Given the description of an element on the screen output the (x, y) to click on. 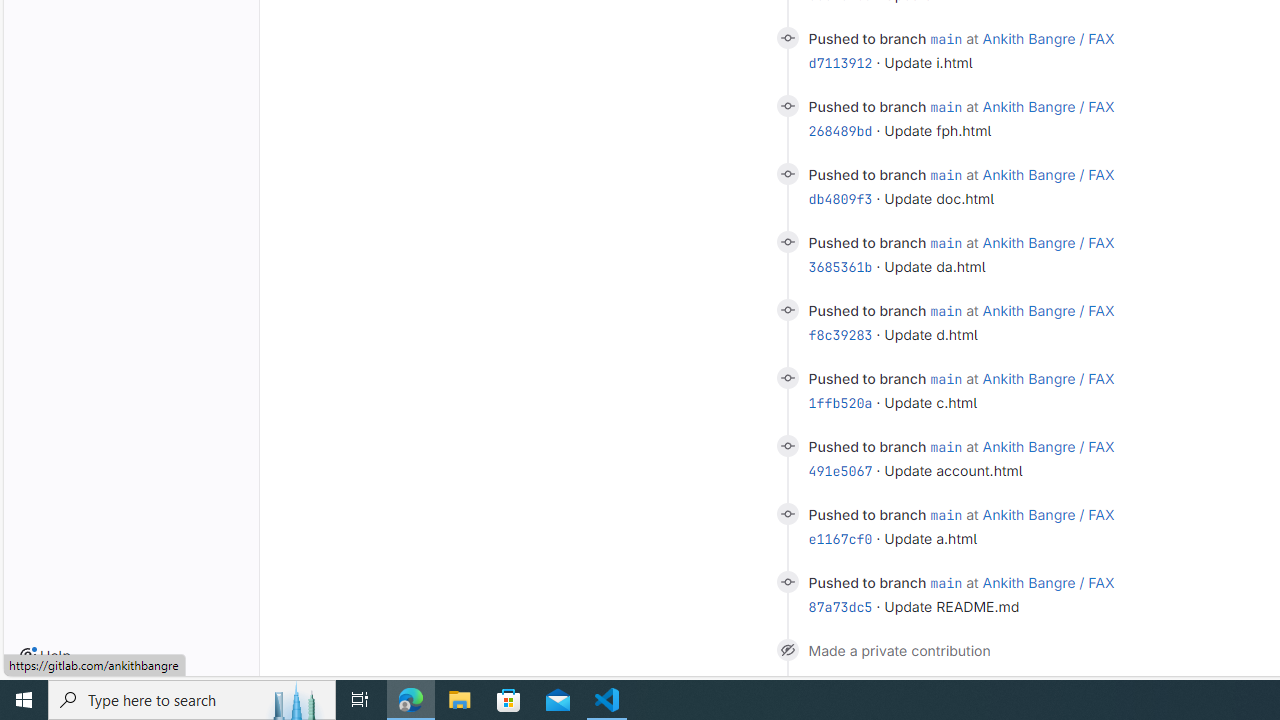
Help (45, 655)
491e5067 (839, 471)
1ffb520a (839, 402)
3685361b (839, 266)
main (946, 582)
db4809f3 (839, 199)
f8c39283 (839, 335)
87a73dc5 (839, 607)
Class: s14 icon (786, 649)
d7113912 (839, 63)
268489bd (839, 130)
Class: s14 (786, 581)
e1167cf0 (839, 538)
Ankith Bangre / FAX (1047, 582)
